Given the description of an element on the screen output the (x, y) to click on. 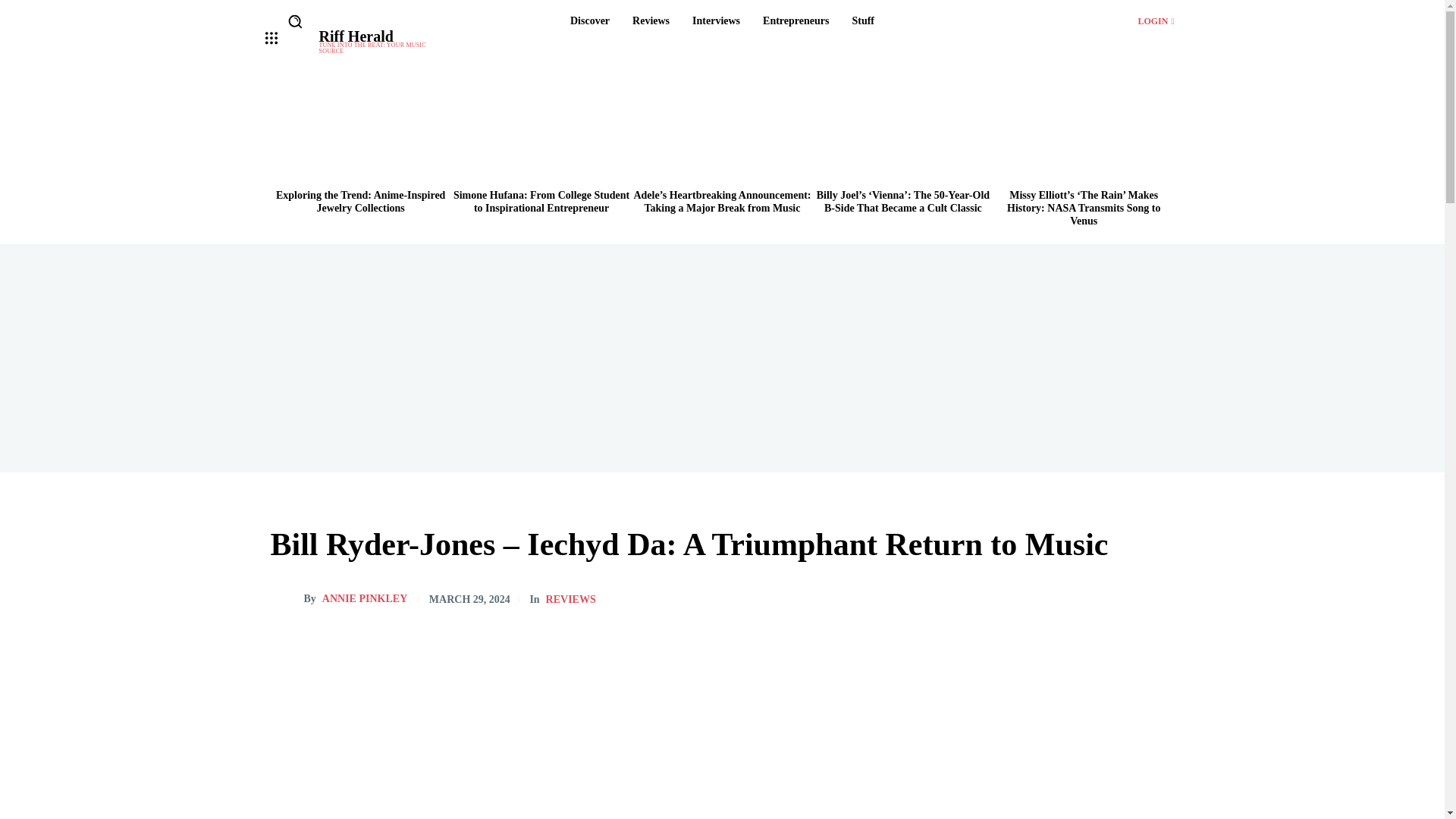
Stuff (863, 20)
Interviews (716, 20)
Annie Pinkley (285, 598)
Reviews (383, 41)
Exploring the Trend: Anime-Inspired Jewelry Collections (650, 20)
Exploring the Trend: Anime-Inspired Jewelry Collections (359, 134)
Entrepreneurs (360, 201)
Discover (795, 20)
LOGIN (589, 20)
Exploring the Trend: Anime-Inspired Jewelry Collections (1155, 20)
